Given the description of an element on the screen output the (x, y) to click on. 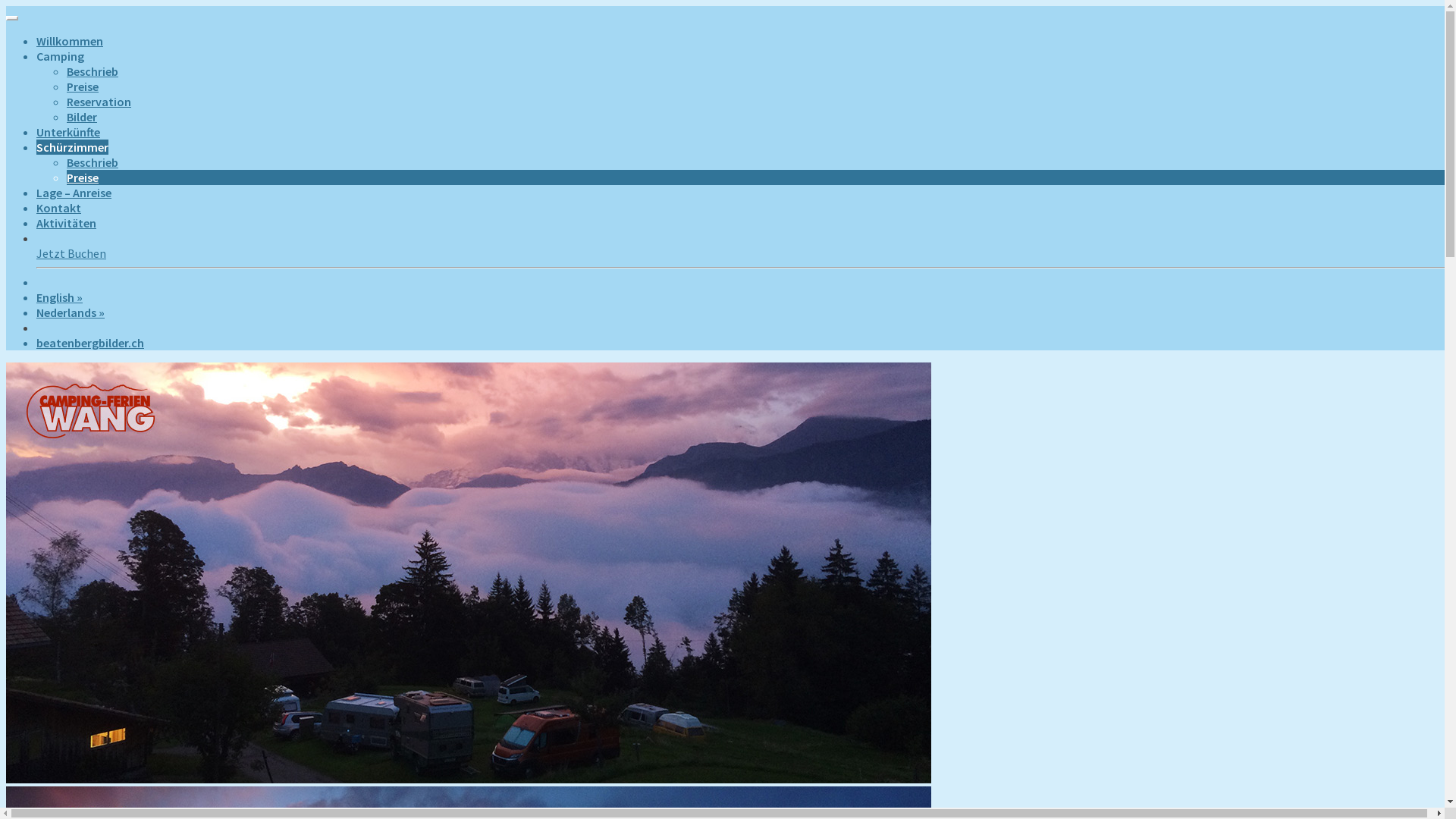
Willkommen Element type: text (69, 40)
Kontakt Element type: text (58, 207)
Jetzt Buchen Element type: text (71, 252)
Preise Element type: text (82, 177)
Reservation Element type: text (98, 101)
Beschrieb Element type: text (92, 161)
Preise Element type: text (82, 86)
Beschrieb Element type: text (92, 70)
Camping Element type: text (60, 55)
Bilder Element type: text (81, 116)
beatenbergbilder.ch Element type: text (90, 342)
